Given the description of an element on the screen output the (x, y) to click on. 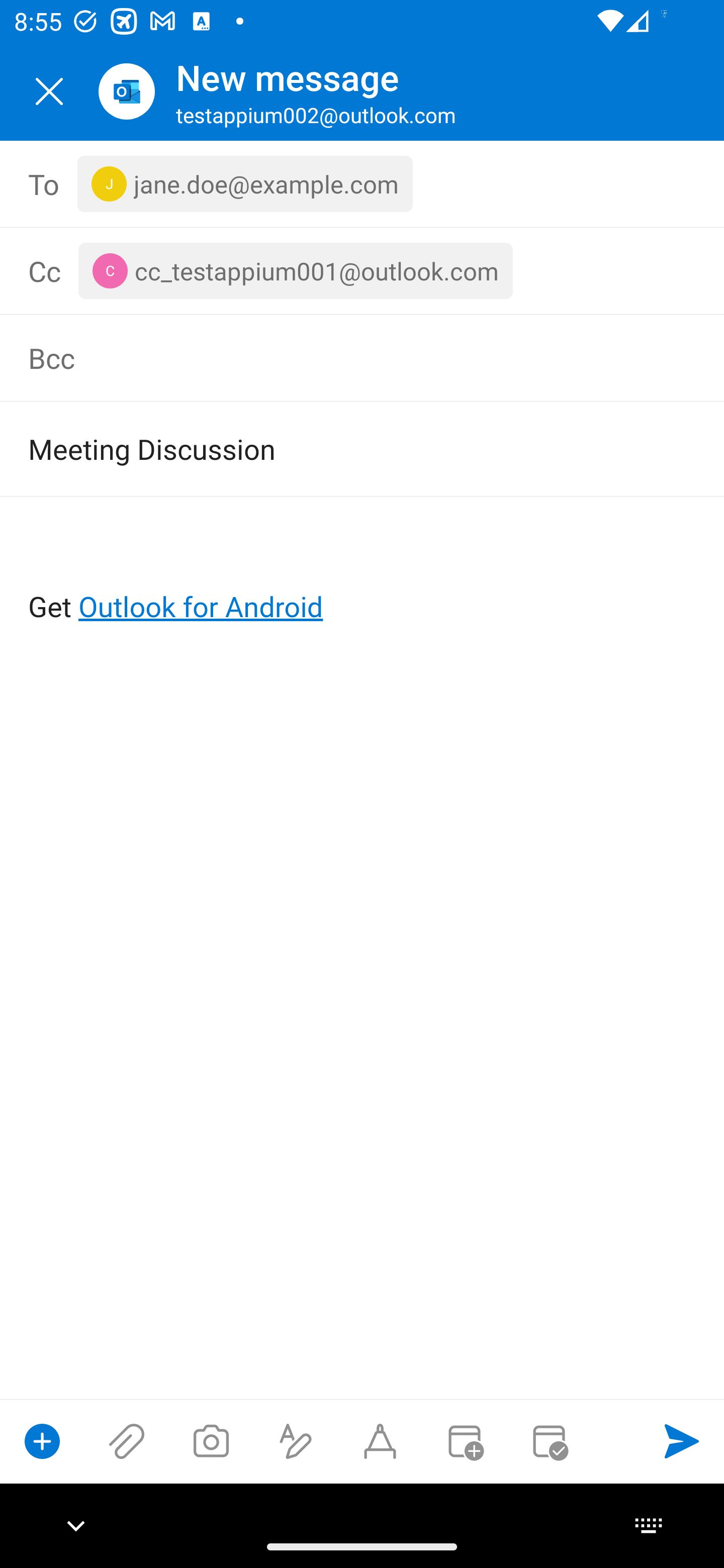
Close (49, 91)
To, 1 recipient <jane.doe@example.com> (362, 184)
Cc, 1 recipient <cc_testappium001@outlook.com> (384, 270)
Meeting Discussion (333, 448)


Get Outlook for Android (363, 573)
Show compose options (42, 1440)
Attach files (126, 1440)
Take a photo (210, 1440)
Show formatting options (295, 1440)
Start Ink compose (380, 1440)
Convert to event (464, 1440)
Send availability (548, 1440)
Send (681, 1440)
